Given the description of an element on the screen output the (x, y) to click on. 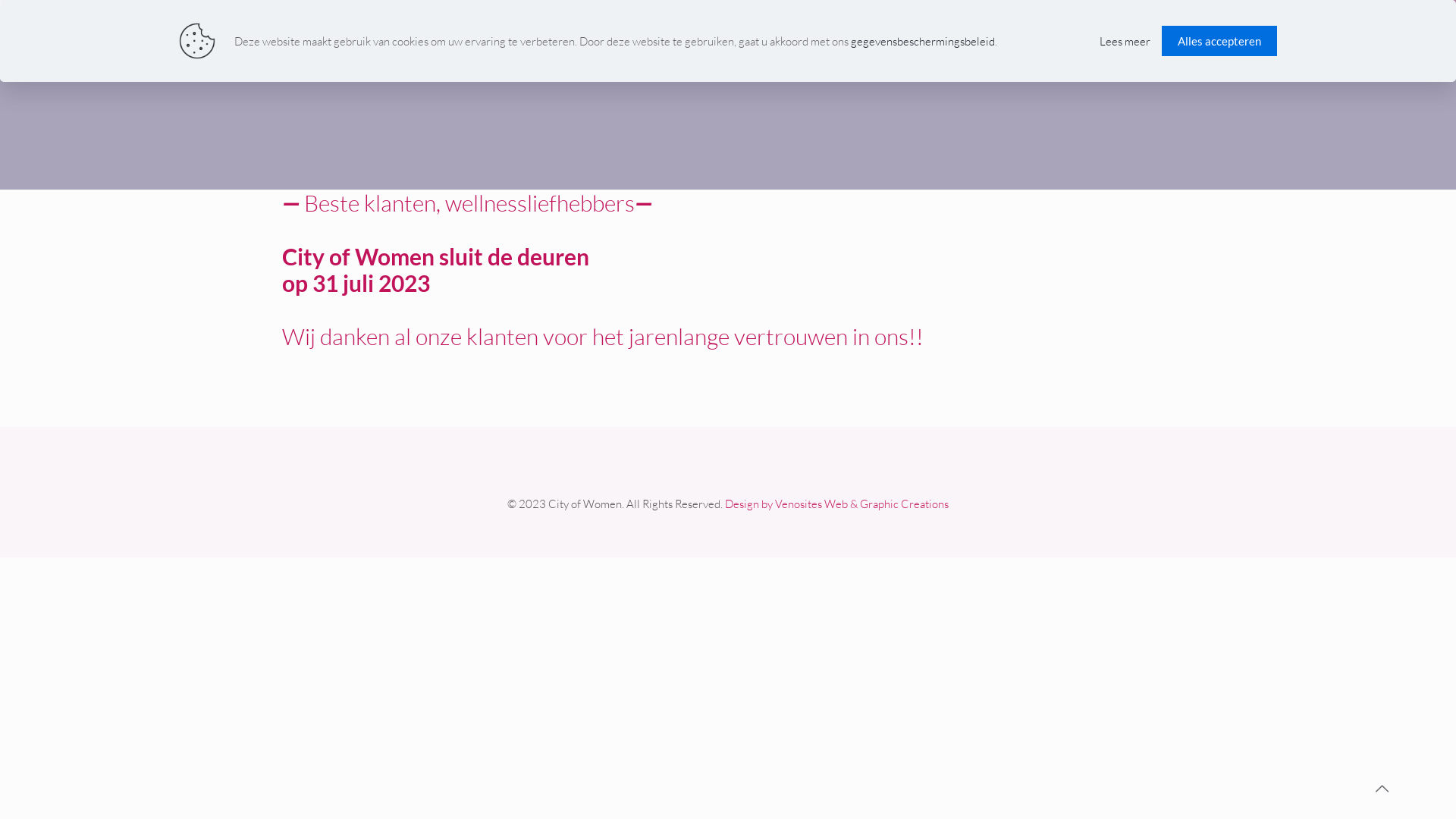
Alles accepteren Element type: text (1219, 40)
City of Women Element type: hover (727, 34)
Design by Venosites Web & Graphic Creations Element type: text (836, 503)
Lees meer Element type: text (1124, 41)
gegevensbeschermingsbeleid Element type: text (922, 40)
